Given the description of an element on the screen output the (x, y) to click on. 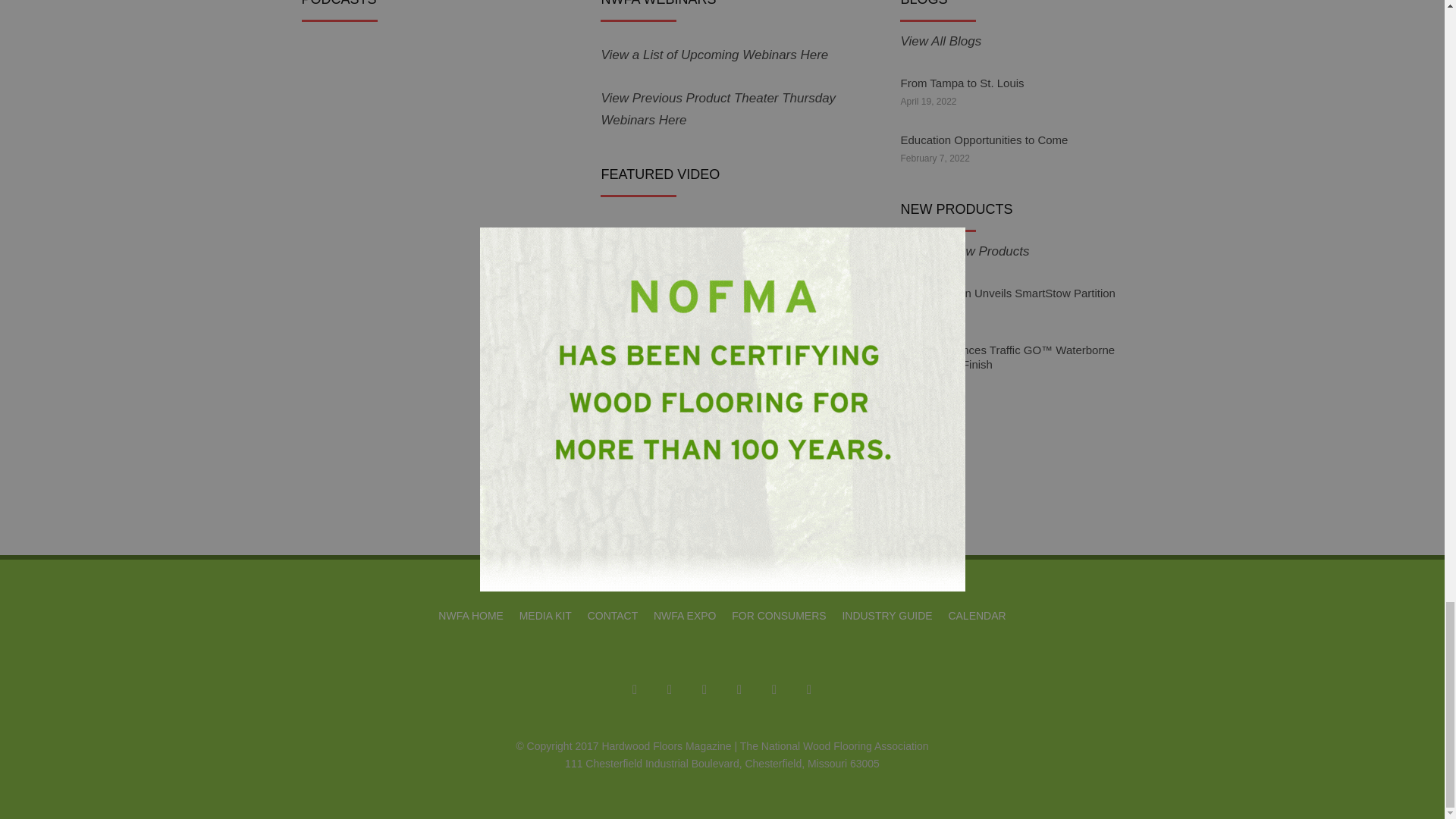
PODCASTS (376, 120)
